Given the description of an element on the screen output the (x, y) to click on. 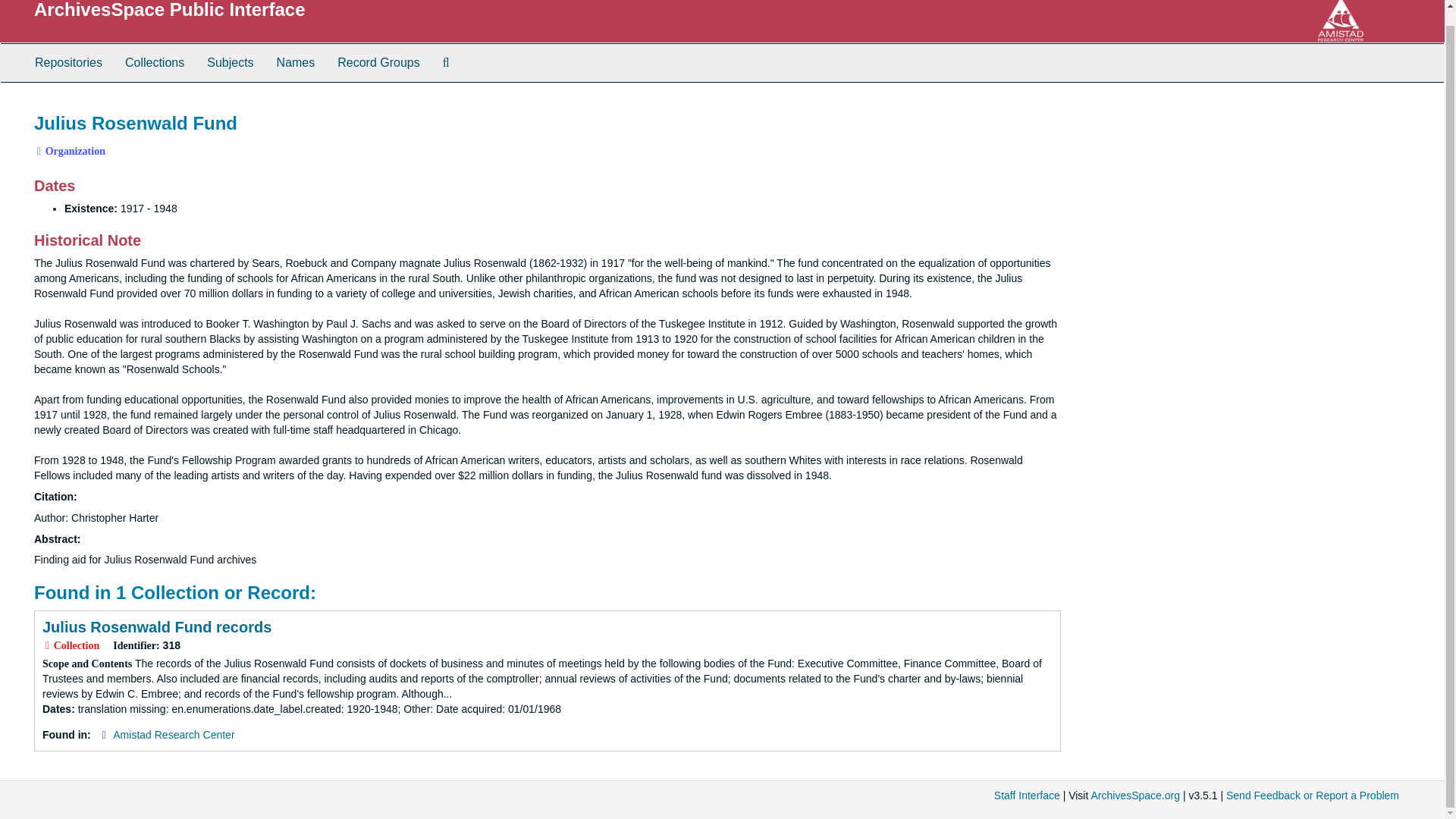
Amistad Research Center (173, 734)
Staff Interface (1026, 795)
ArchivesSpace Public Interface (169, 9)
Julius Rosenwald Fund records (156, 627)
Repositories (68, 62)
Names (295, 62)
Return to the ArchivesSpace homepage (169, 9)
ArchivesSpace.org (1134, 795)
Record Groups (378, 62)
Subjects (229, 62)
